Given the description of an element on the screen output the (x, y) to click on. 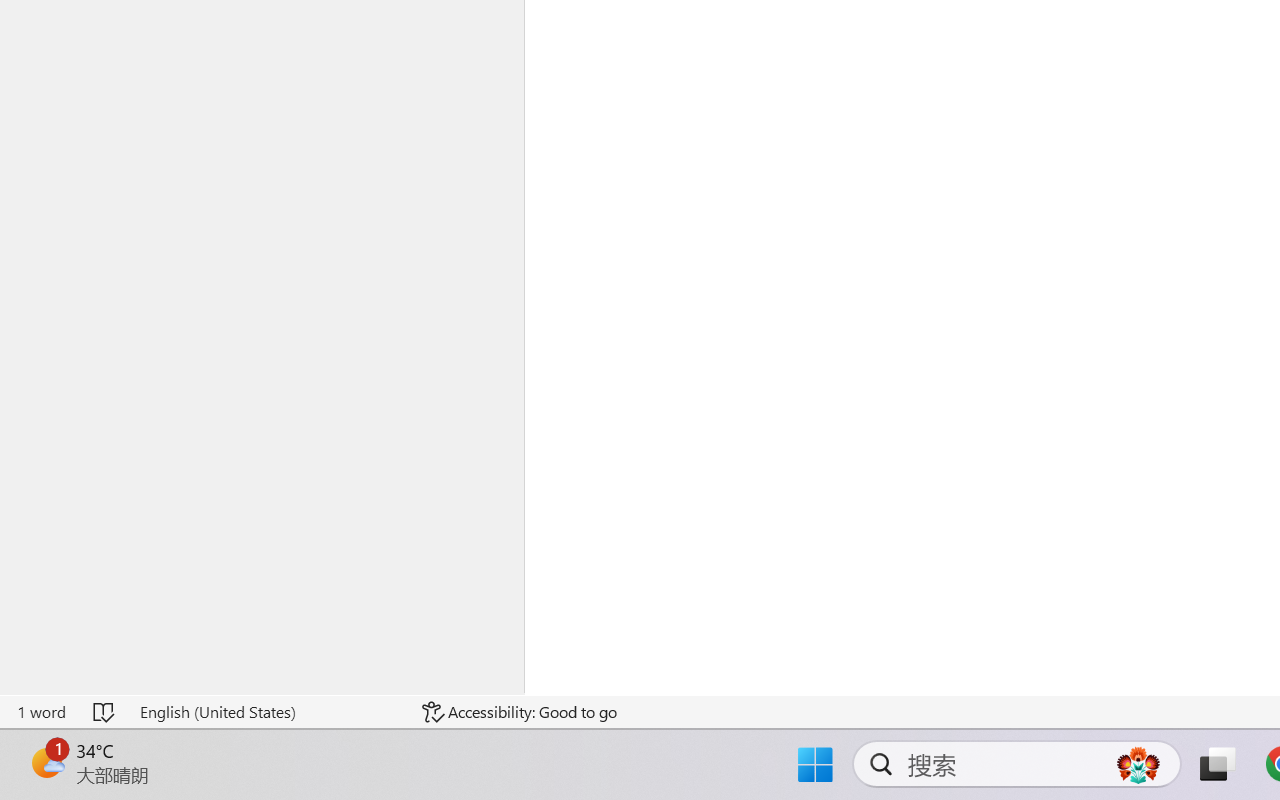
AutomationID: DynamicSearchBoxGleamImage (1138, 764)
Spelling and Grammar Check No Errors (105, 712)
Language English (United States) (267, 712)
AutomationID: BadgeAnchorLargeTicker (46, 762)
Accessibility Checker Accessibility: Good to go (519, 712)
Word Count 1 word (41, 712)
